Given the description of an element on the screen output the (x, y) to click on. 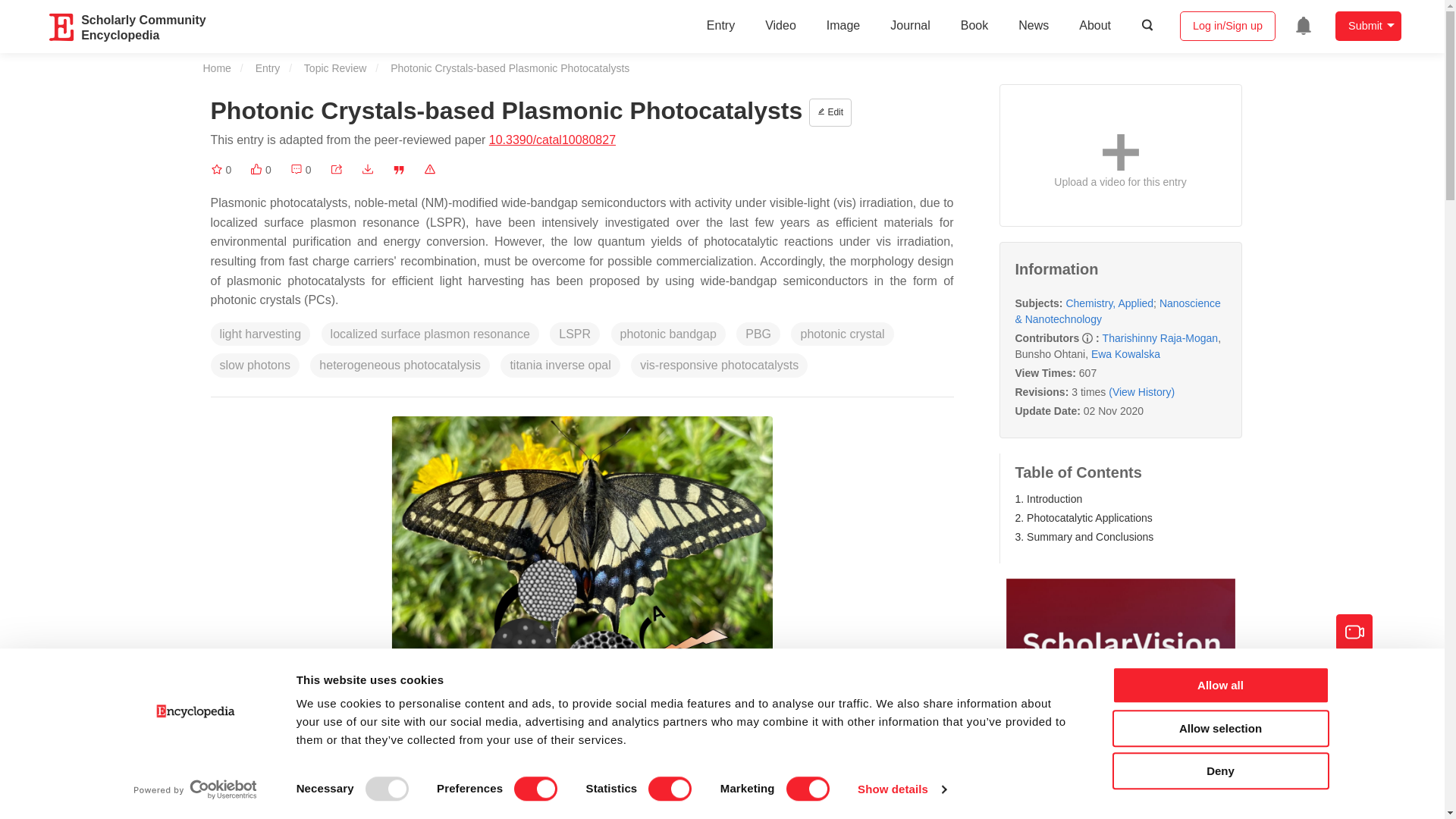
Comment (300, 169)
Show details (900, 789)
Favorite (221, 169)
Like (260, 169)
Edit (830, 112)
